Given the description of an element on the screen output the (x, y) to click on. 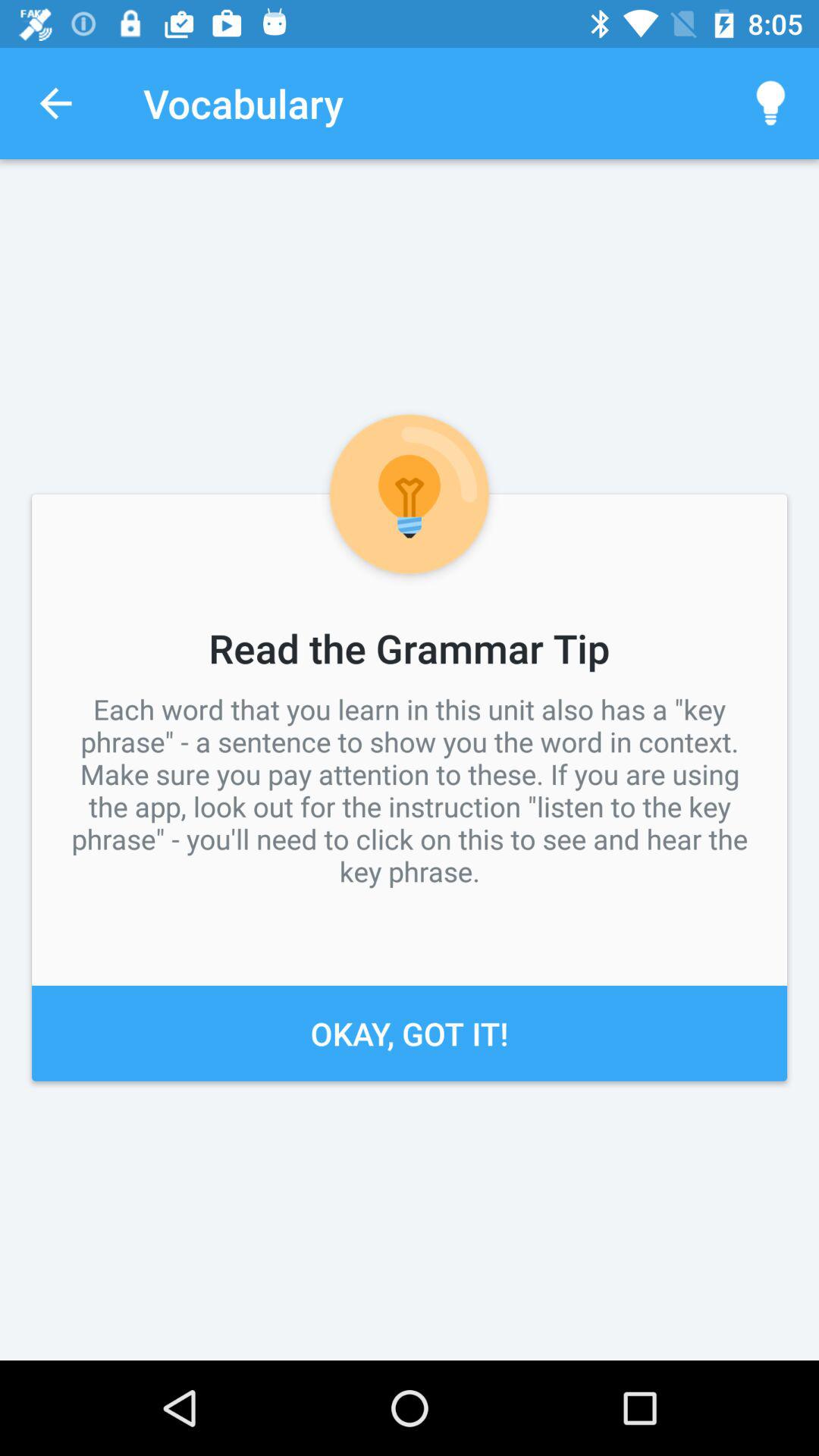
turn off the item below each word that item (409, 1033)
